Given the description of an element on the screen output the (x, y) to click on. 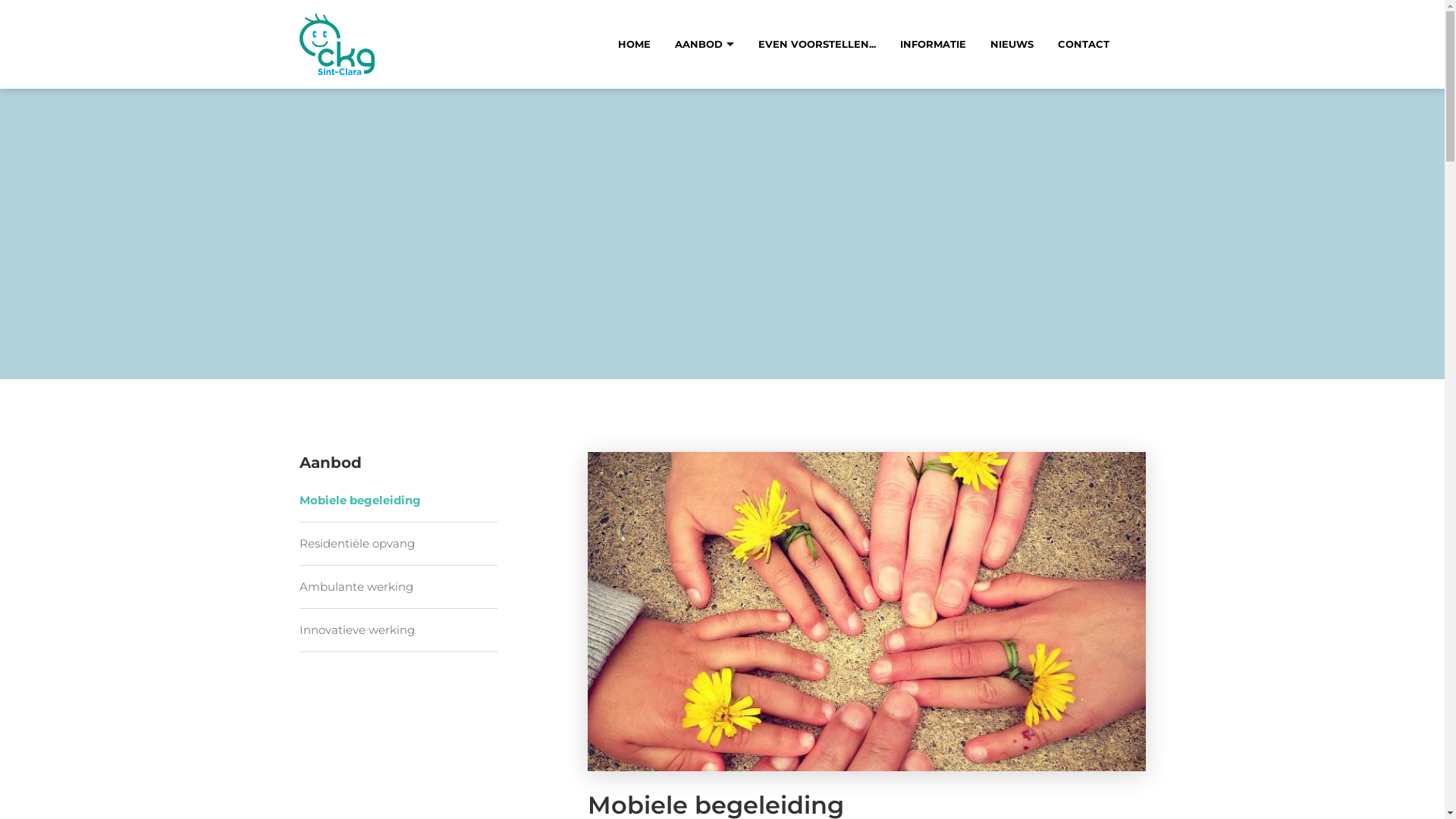
HOME Element type: text (633, 44)
NIEUWS Element type: text (1011, 44)
AANBOD Element type: text (704, 44)
Mobiele begeleiding Element type: text (397, 500)
CONTACT Element type: text (1082, 44)
Innovatieve werking Element type: text (397, 629)
Ambulante werking Element type: text (397, 586)
INFORMATIE Element type: text (932, 44)
EVEN VOORSTELLEN... Element type: text (817, 44)
